Given the description of an element on the screen output the (x, y) to click on. 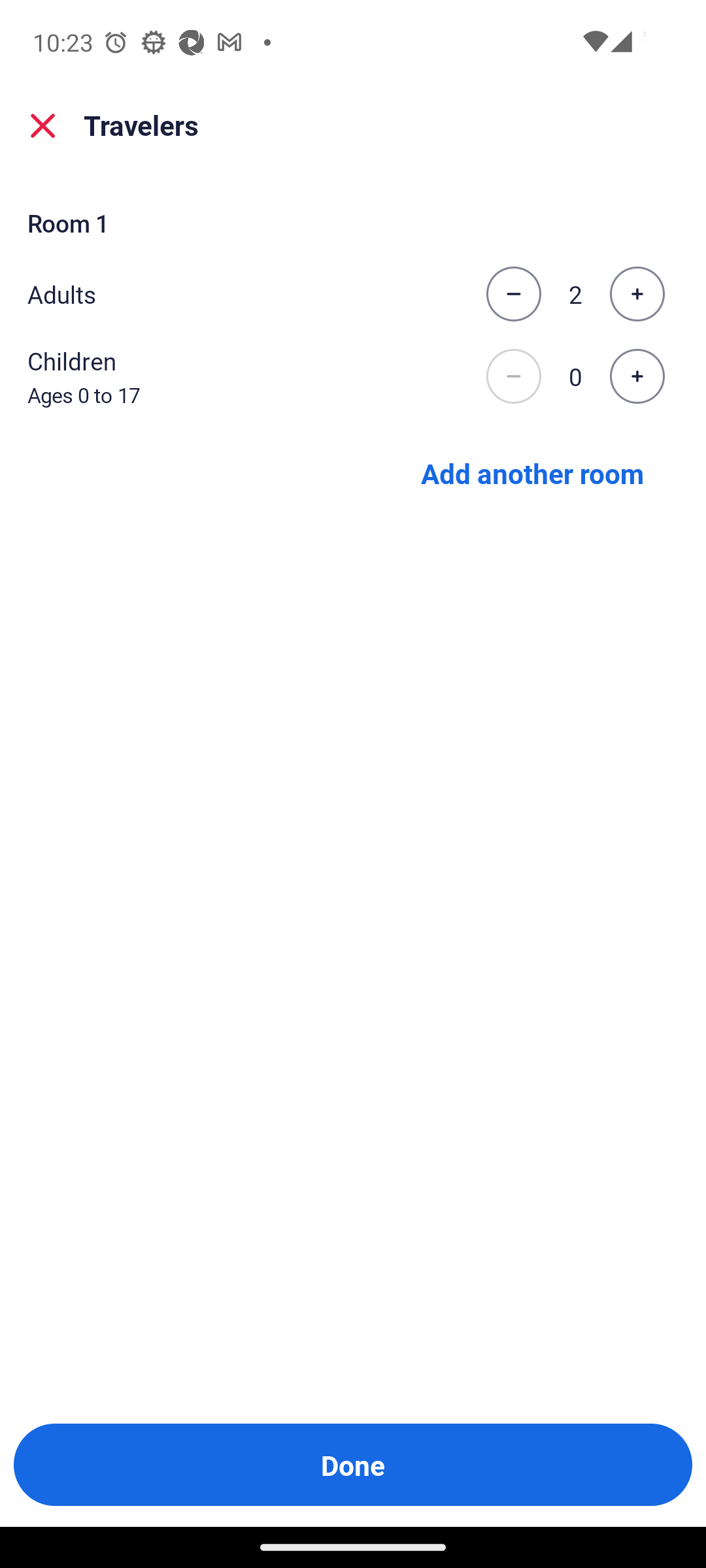
close (43, 125)
Decrease the number of adults (513, 293)
Increase the number of adults (636, 293)
Decrease the number of children (513, 376)
Increase the number of children (636, 376)
Add another room (531, 473)
Done (352, 1464)
